Given the description of an element on the screen output the (x, y) to click on. 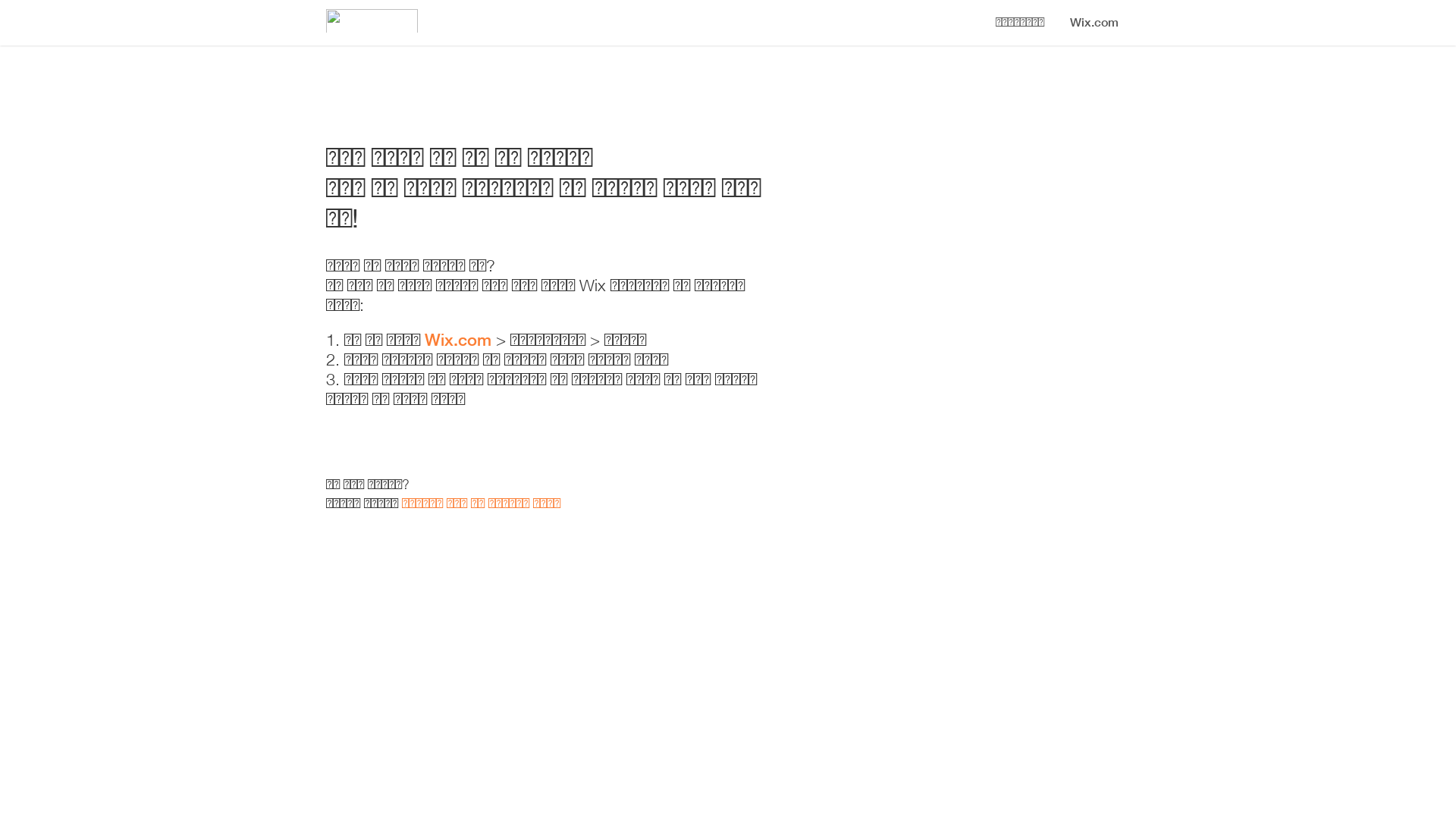
Wix.com Element type: text (459, 339)
